Given the description of an element on the screen output the (x, y) to click on. 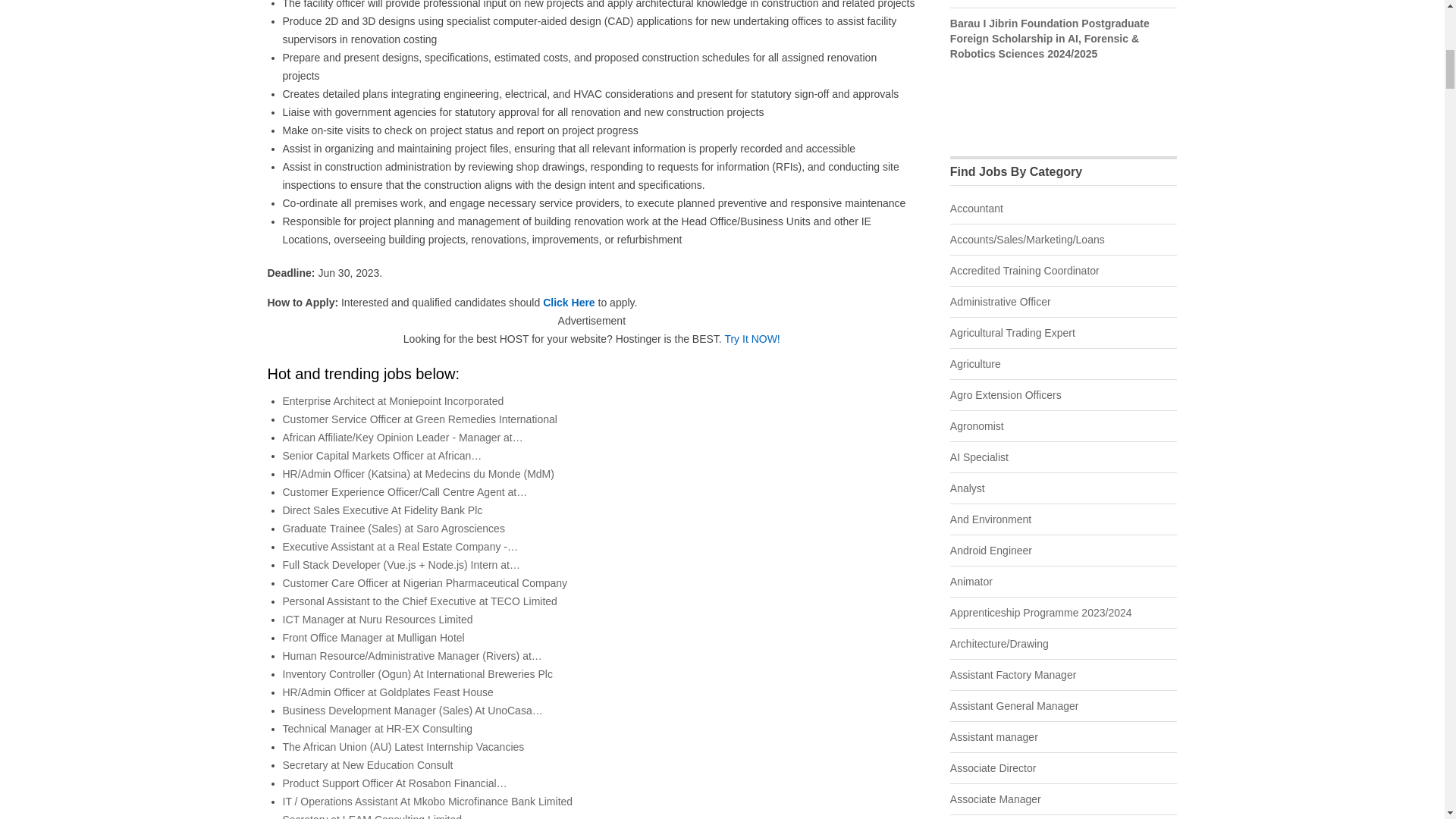
Try It NOW! (750, 338)
Enterprise Architect at Moniepoint Incorporated (392, 400)
Click Here (568, 302)
